Given the description of an element on the screen output the (x, y) to click on. 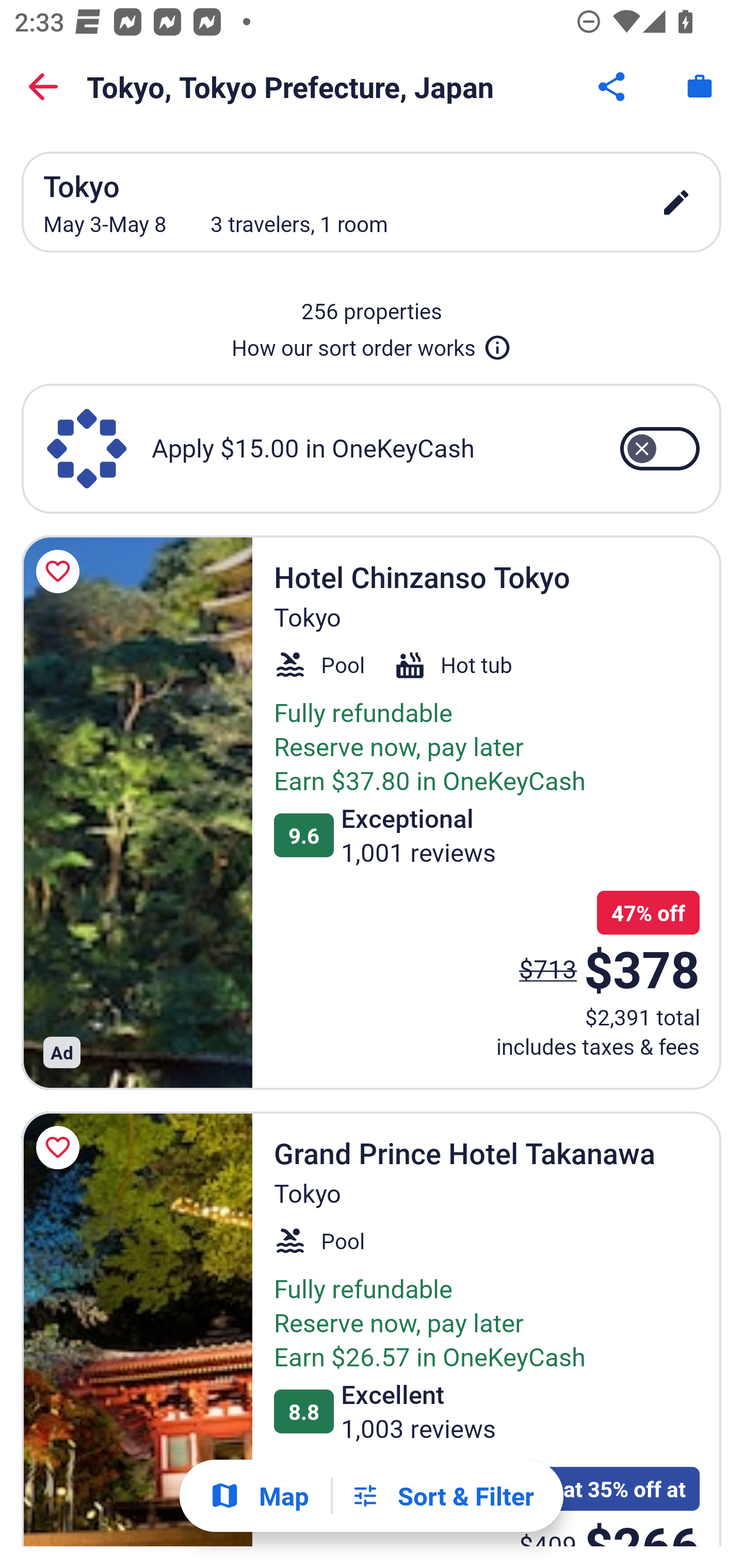
Back (43, 86)
Share Button (612, 86)
Trips. Button (699, 86)
Tokyo May 3-May 8 3 travelers, 1 room edit (371, 202)
How our sort order works (371, 344)
Save Hotel Chinzanso Tokyo to a trip (61, 571)
Hotel Chinzanso Tokyo (136, 811)
$713 The price was $713 (547, 968)
Save Grand Prince Hotel Takanawa to a trip (61, 1147)
Grand Prince Hotel Takanawa (136, 1328)
Filters Sort & Filter Filters Button (442, 1495)
Show map Map Show map Button (258, 1495)
